Given the description of an element on the screen output the (x, y) to click on. 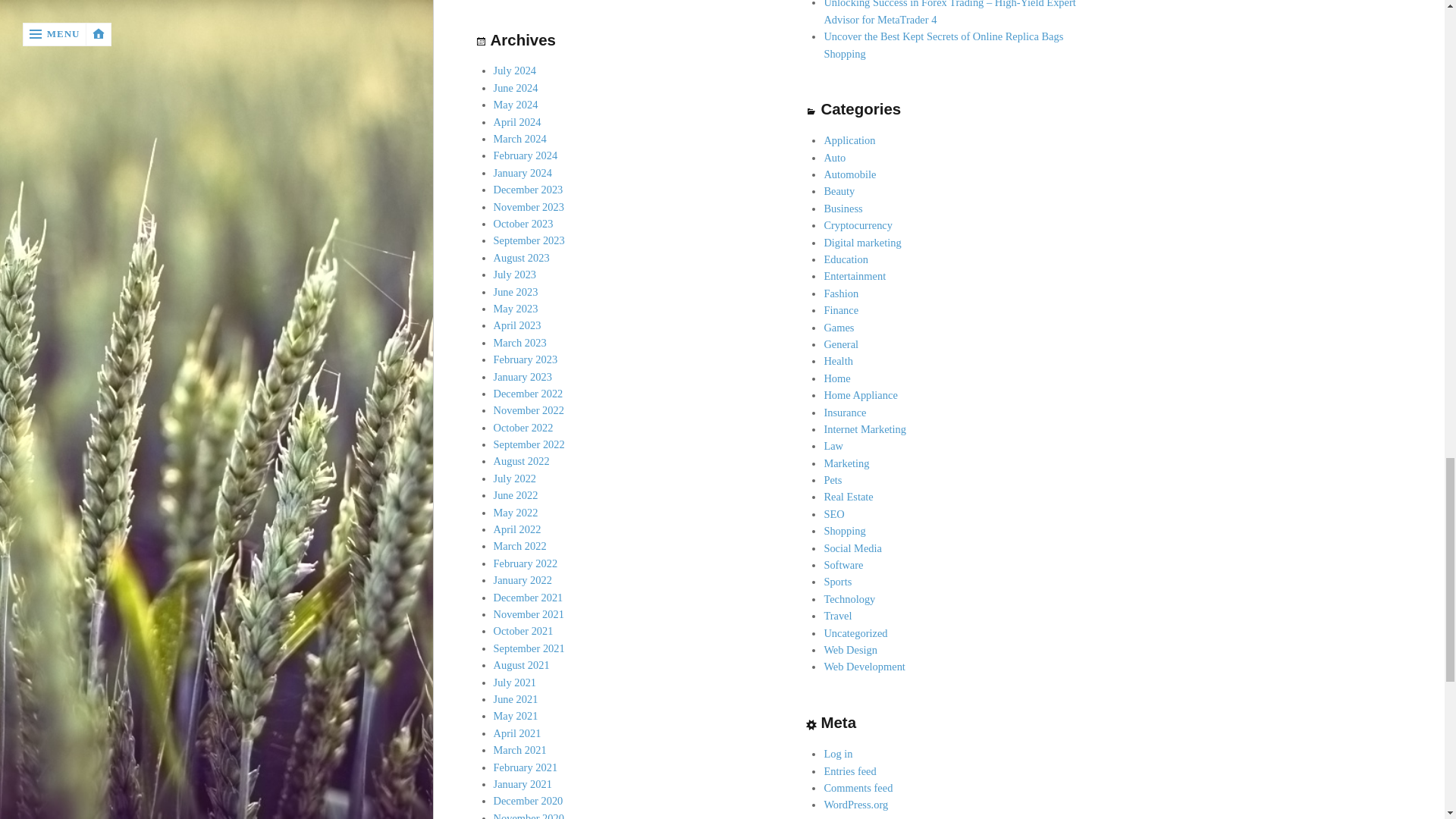
February 2024 (525, 155)
March 2024 (520, 138)
February 2023 (525, 358)
September 2023 (528, 240)
May 2024 (515, 104)
June 2024 (515, 87)
April 2024 (517, 121)
November 2023 (528, 206)
May 2023 (515, 308)
March 2023 (520, 342)
January 2024 (522, 173)
July 2023 (515, 274)
June 2023 (515, 291)
December 2023 (528, 189)
August 2023 (521, 257)
